Given the description of an element on the screen output the (x, y) to click on. 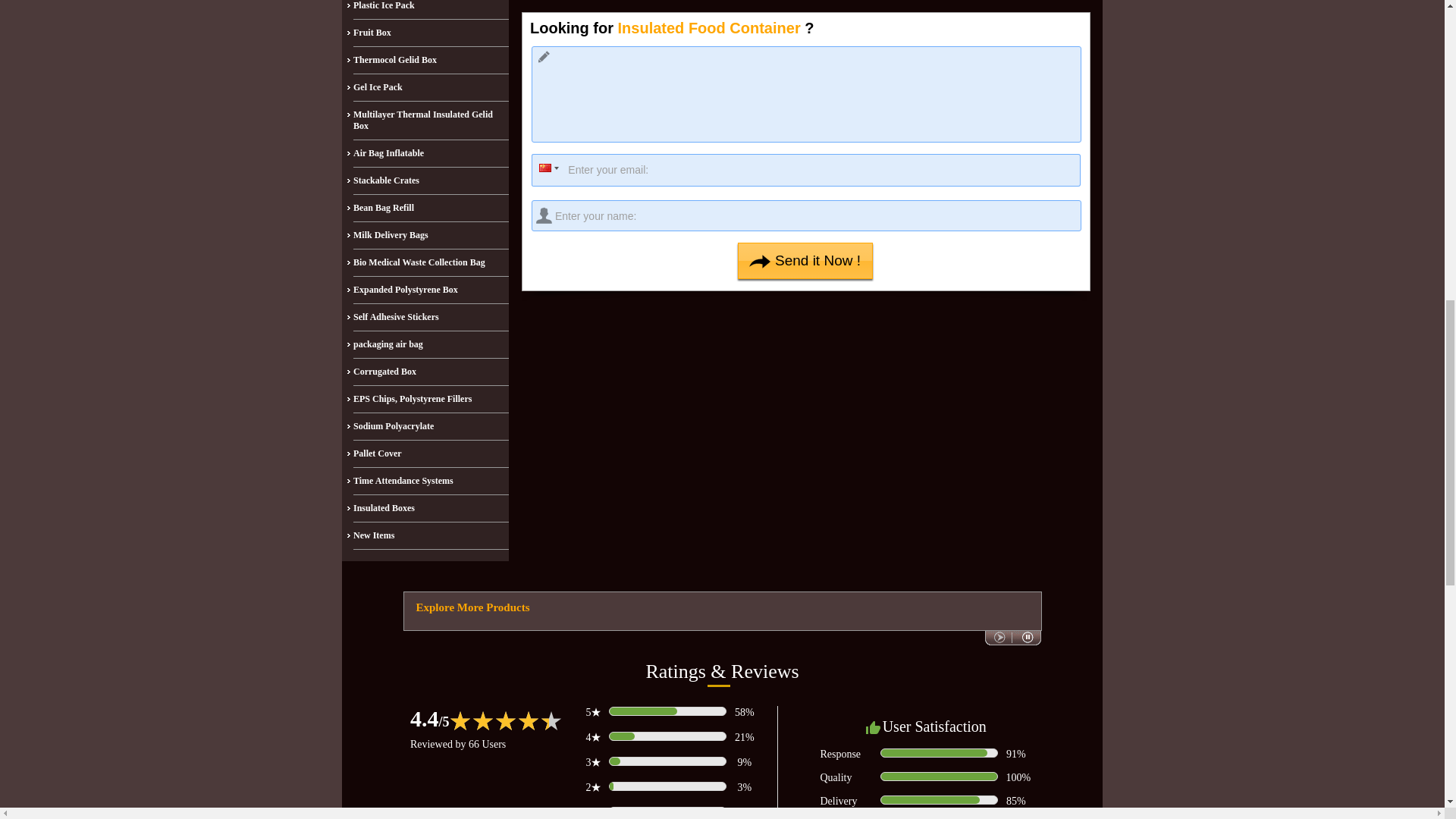
Enter your email: (805, 169)
4.4 out of 5 Votes (429, 718)
Send it Now ! (805, 260)
Enter your name: (806, 214)
Send it Now ! (805, 260)
